Given the description of an element on the screen output the (x, y) to click on. 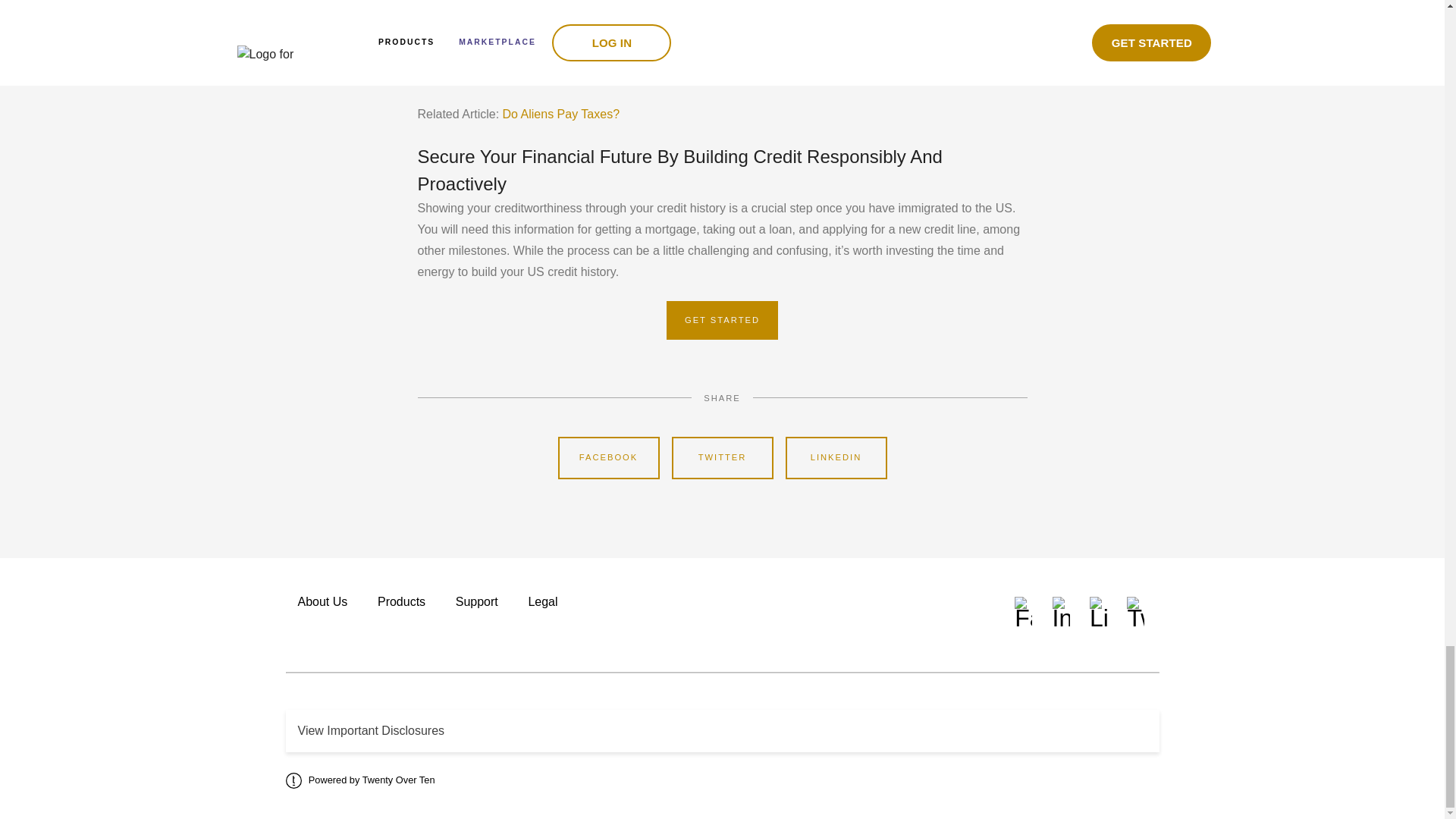
FACEBOOK (608, 457)
GET STARTED (721, 320)
About Us (322, 601)
Do Aliens Pay Taxes?  (562, 113)
Support (476, 601)
Legal (542, 601)
LINKEDIN (836, 457)
TWITTER (722, 457)
Products (400, 601)
